Given the description of an element on the screen output the (x, y) to click on. 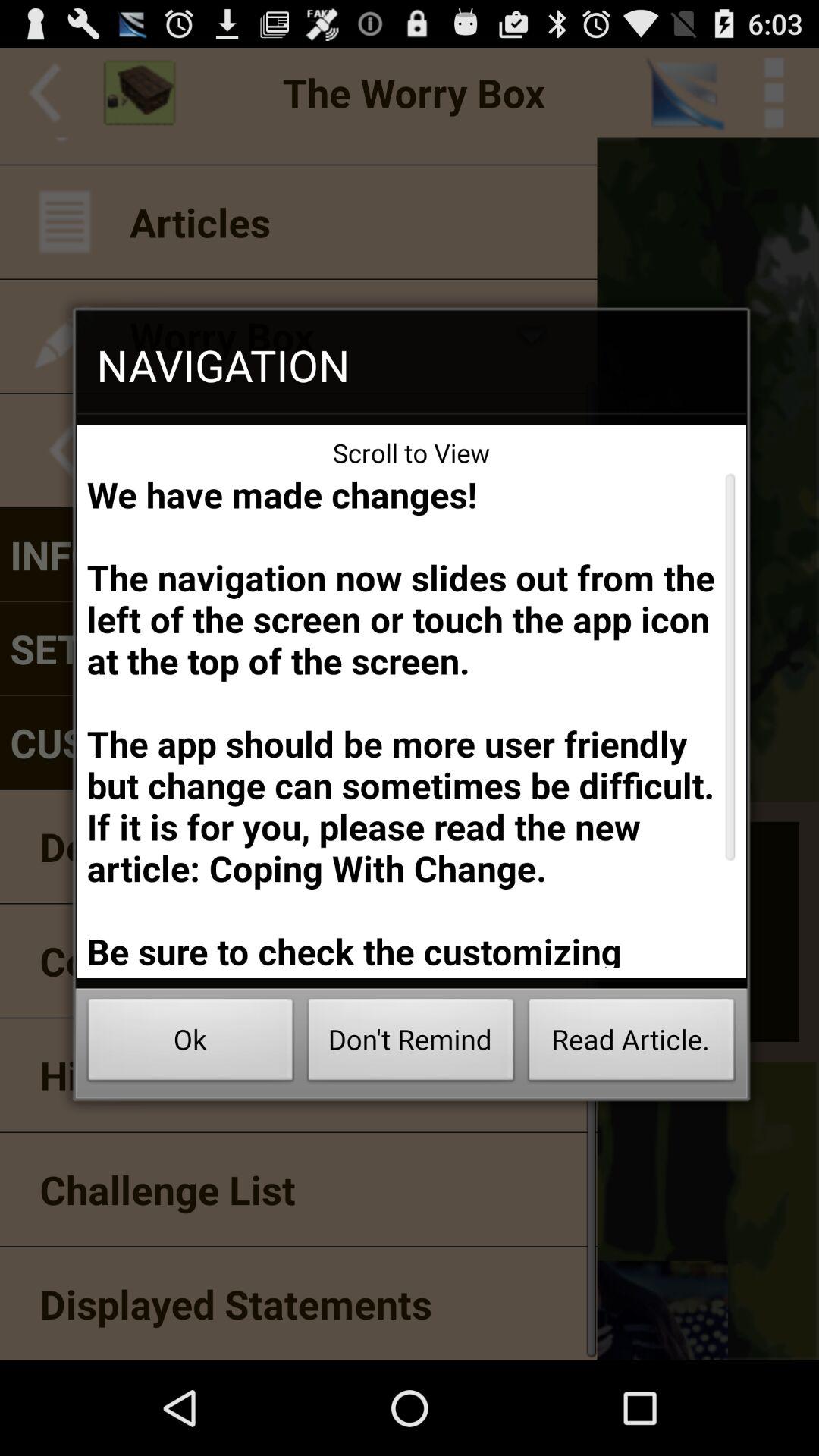
tap the icon at the bottom (410, 1044)
